Given the description of an element on the screen output the (x, y) to click on. 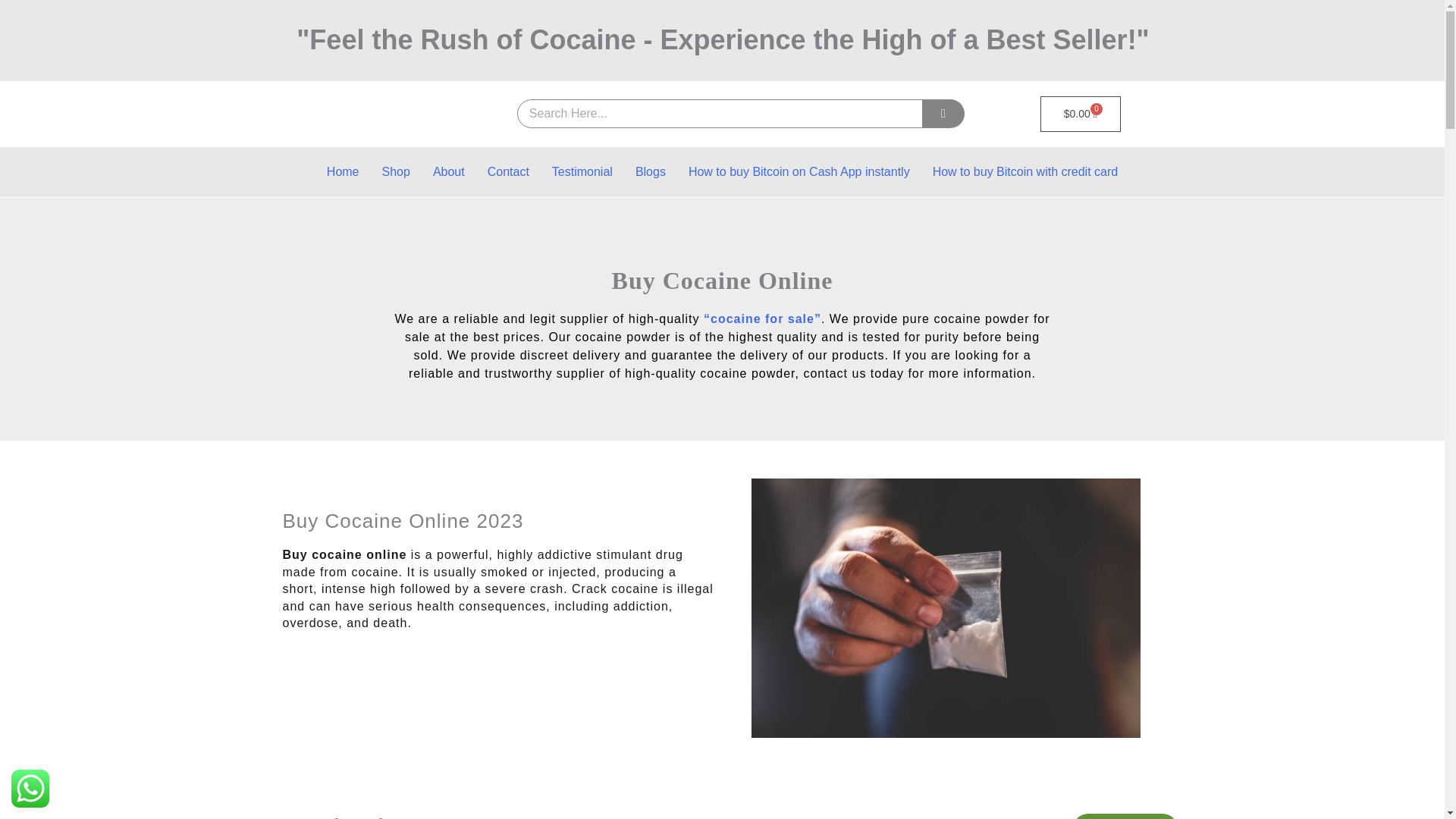
Shop (396, 171)
Blogs (650, 171)
Home (343, 171)
How to buy Bitcoin on Cash App instantly (799, 171)
How to buy Bitcoin with credit card (1025, 171)
About (449, 171)
SHOP NOW (1125, 816)
Testimonial (582, 171)
Contact (508, 171)
